Given the description of an element on the screen output the (x, y) to click on. 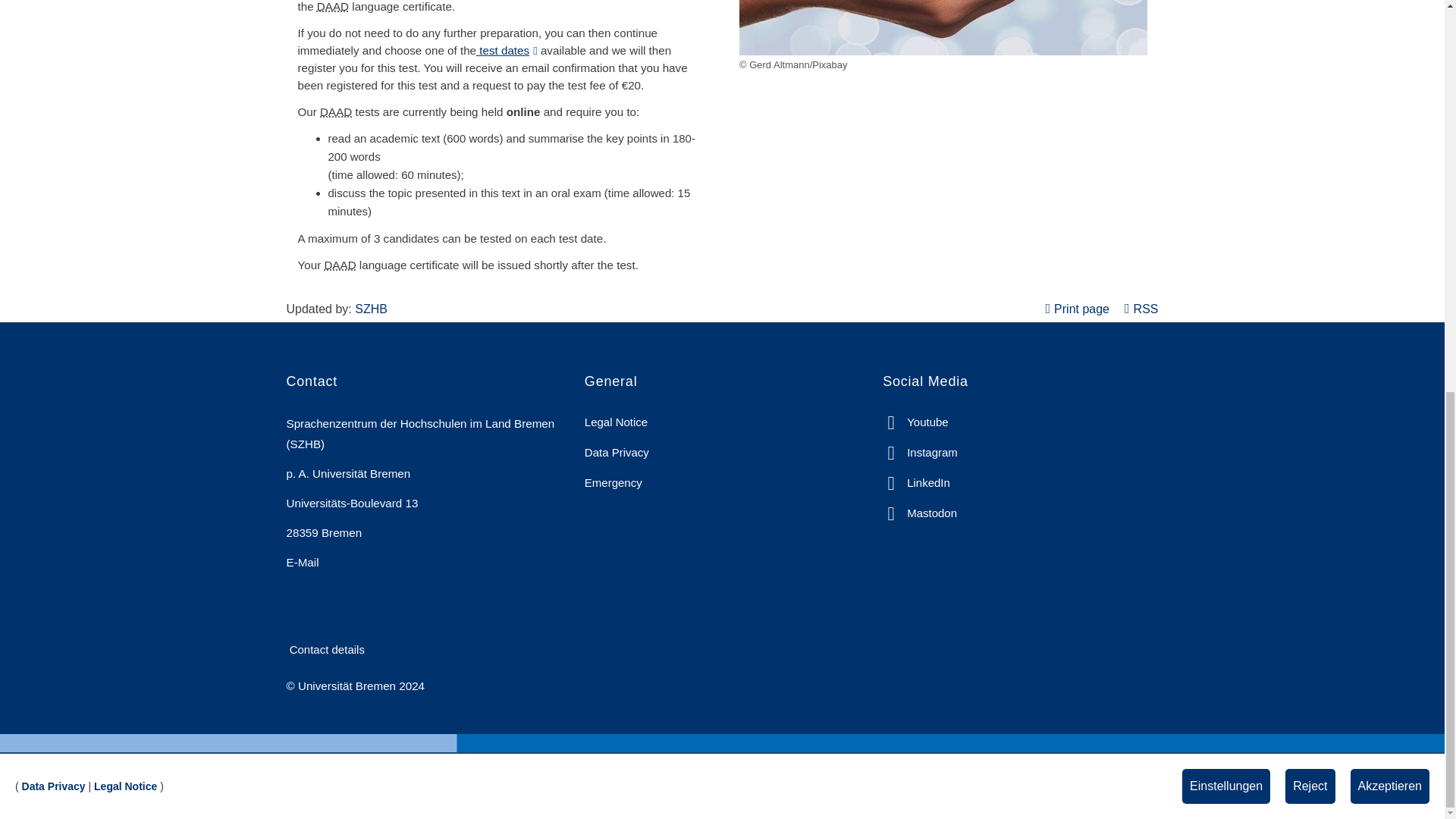
German Academic Exchange Service (333, 6)
Seite als RSS Feed (1140, 308)
German Academic Exchange Service (339, 264)
German Academic Exchange Service (336, 111)
Scroll to the bottom of the page (1411, 36)
Opens external link in new window (506, 50)
